Given the description of an element on the screen output the (x, y) to click on. 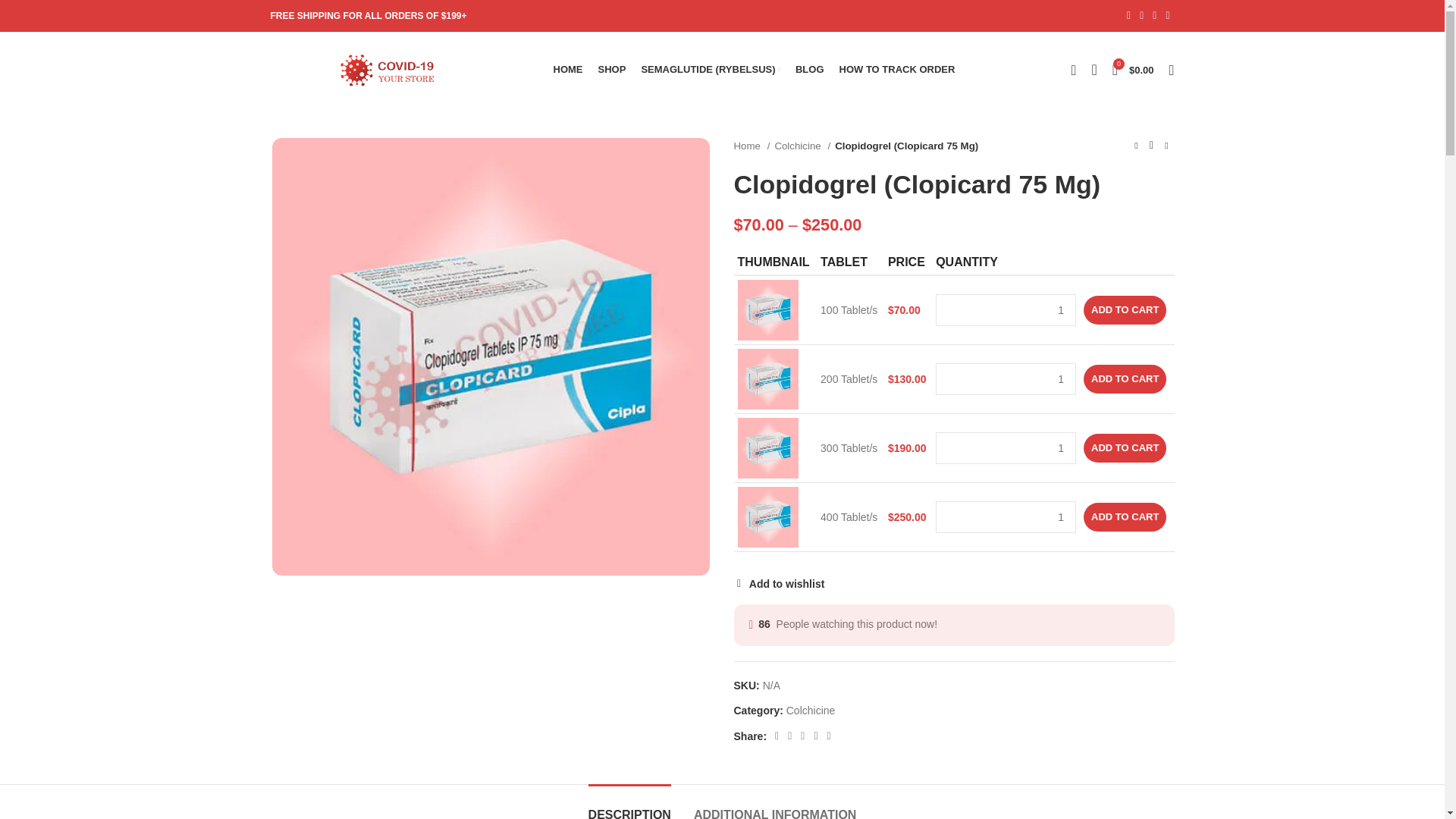
BLOG (809, 69)
1 (1005, 309)
HOME (568, 69)
SHOP (612, 69)
Home (751, 145)
Colchicine (801, 145)
1 (1005, 448)
Qty (1005, 378)
Qty (1005, 448)
1 (1005, 378)
HOW TO TRACK ORDER (896, 69)
Shopping cart (1133, 69)
ADD TO CART (1124, 309)
1 (1005, 517)
Qty (1005, 517)
